Given the description of an element on the screen output the (x, y) to click on. 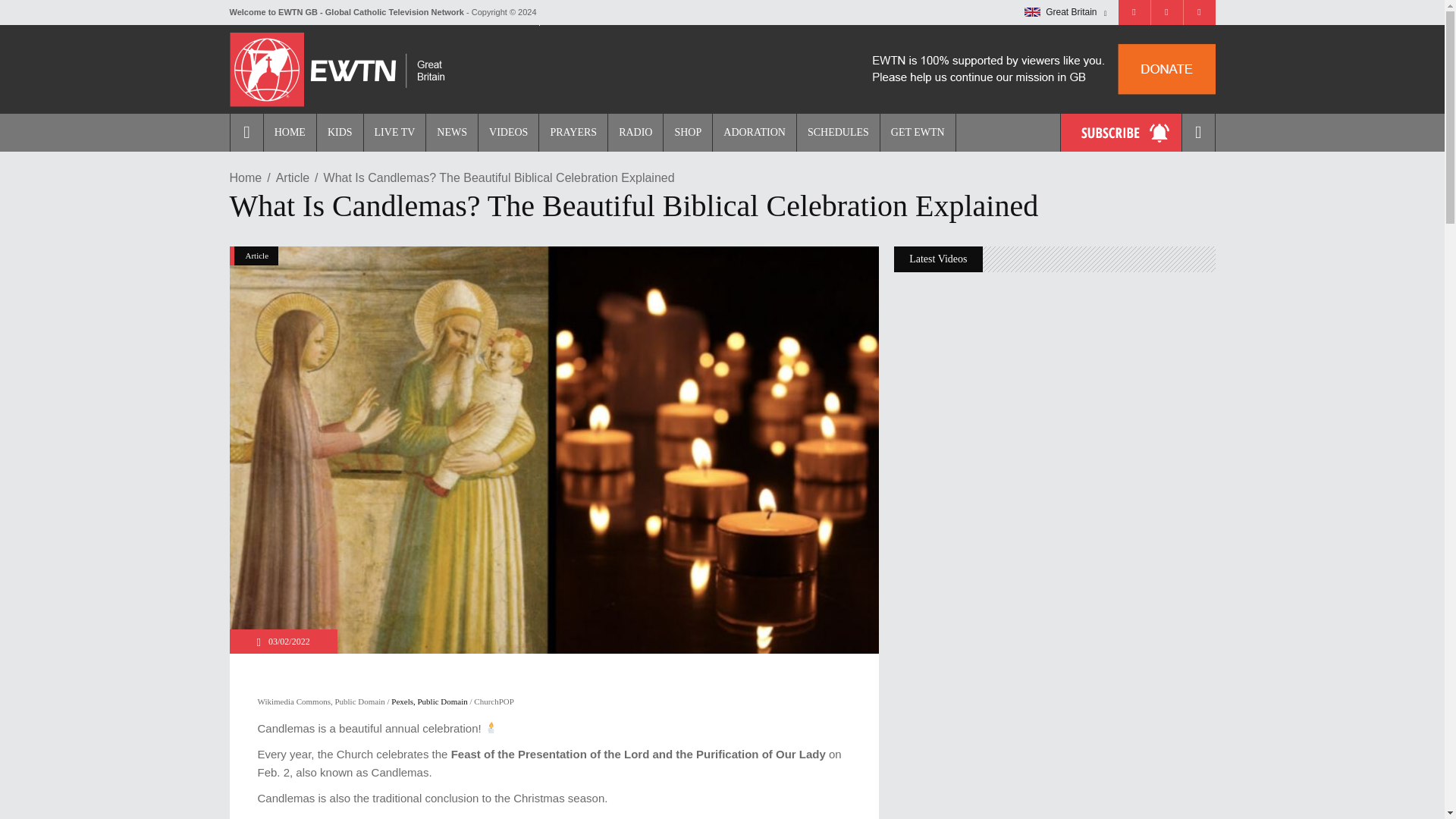
VIDEOS (507, 132)
  Great Britain (1065, 12)
ADORATION (753, 132)
PRAYERS (572, 132)
Great Britain (1033, 11)
NEWS (451, 132)
SHOP (686, 132)
KIDS (338, 132)
HOME (289, 132)
LIVE TV (394, 132)
SCHEDULES (837, 132)
GET EWTN (917, 132)
RADIO (634, 132)
